Given the description of an element on the screen output the (x, y) to click on. 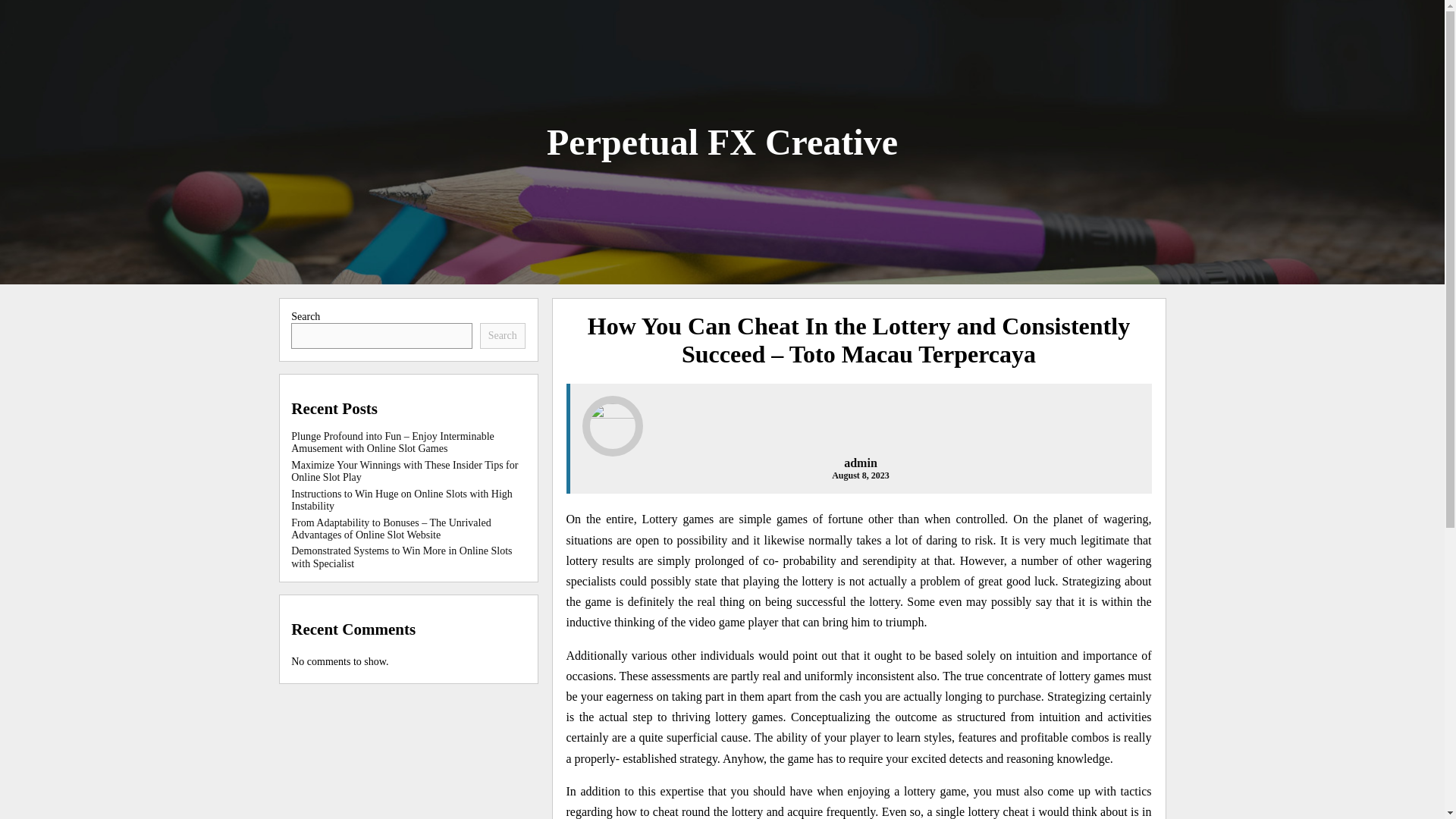
August 8, 2023 (860, 475)
View all posts by admin (860, 462)
admin (860, 462)
Search (502, 335)
12:09 pm (860, 475)
Perpetual FX Creative (722, 142)
